Given the description of an element on the screen output the (x, y) to click on. 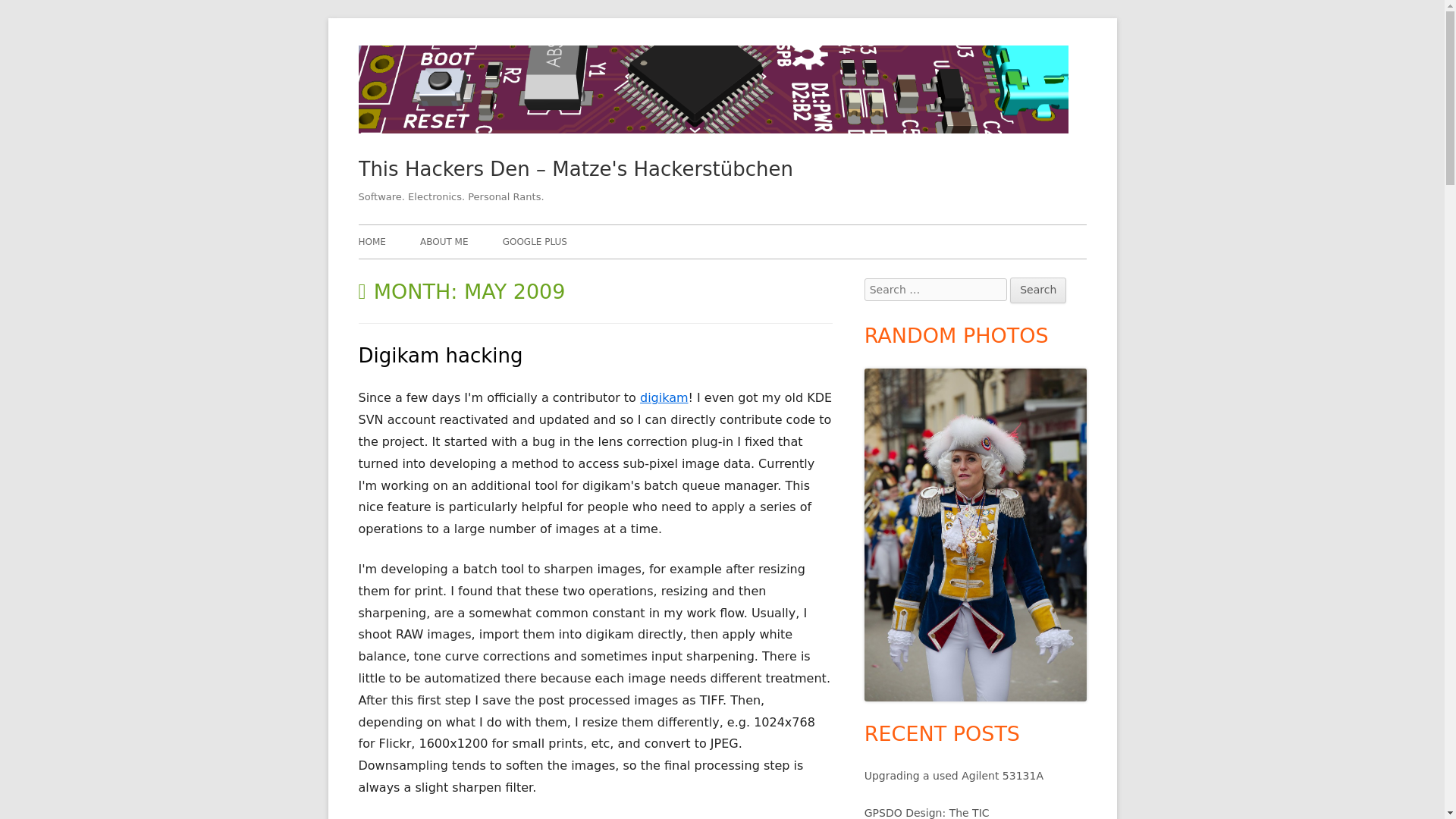
ABOUT ME (444, 241)
Search (1037, 290)
digikam (664, 397)
Digikam hacking (440, 354)
HOME (371, 241)
GPSDO Design: The TIC (927, 812)
GOOGLE PLUS (534, 241)
Faces of Carnival 2024 (975, 534)
Search (1037, 290)
Search (1037, 290)
Upgrading a used Agilent 53131A (953, 775)
